Given the description of an element on the screen output the (x, y) to click on. 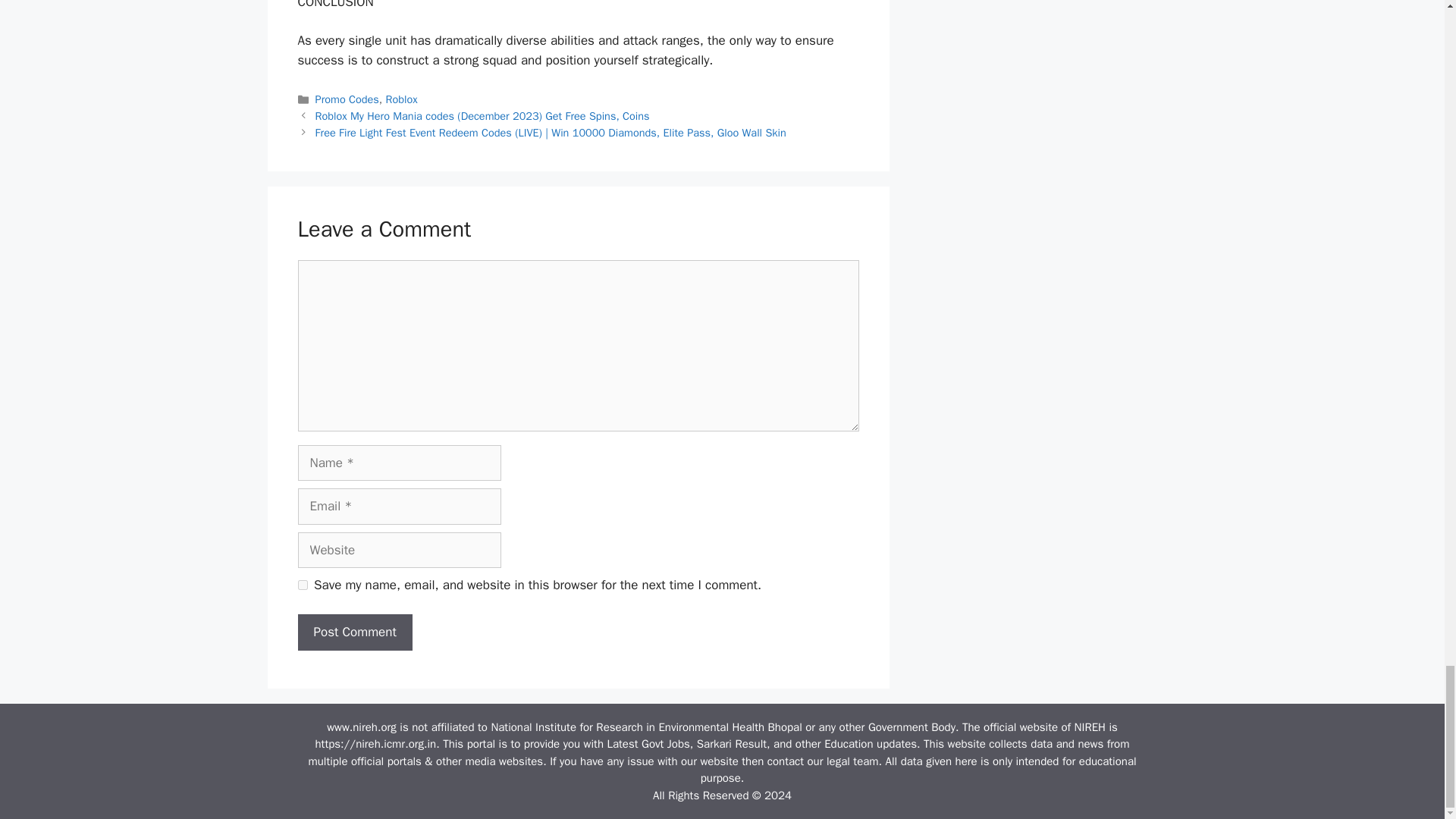
Roblox (400, 99)
Post Comment (354, 632)
Promo Codes (346, 99)
yes (302, 584)
Post Comment (354, 632)
